Given the description of an element on the screen output the (x, y) to click on. 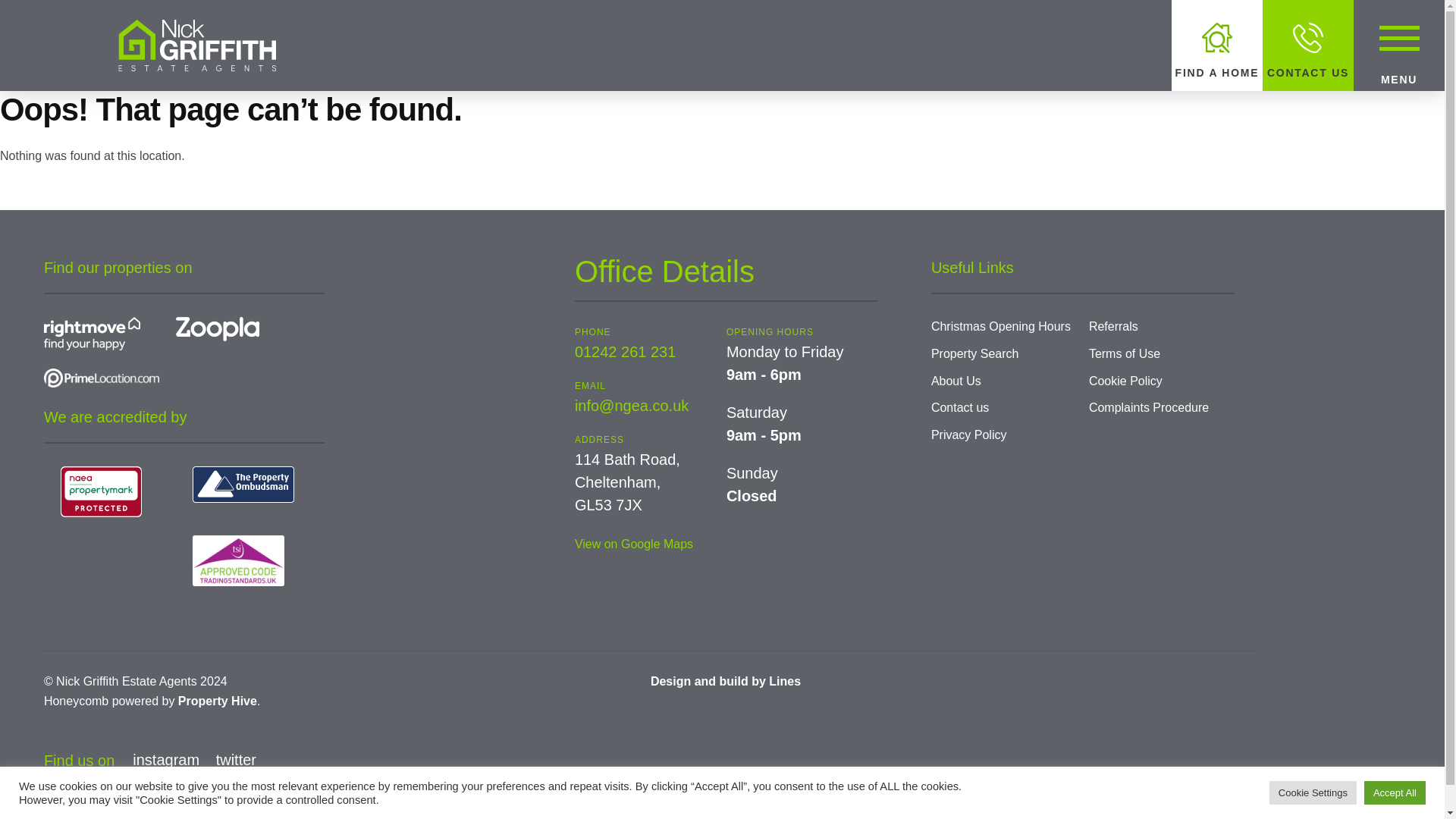
Property Hive (217, 700)
01242 261 231 (625, 351)
About Us (956, 380)
Website design, build and CMS by Lines (725, 680)
Complaints Procedure (1148, 407)
FIND A HOME (1217, 45)
Accept All (1394, 792)
Terms of Use (1124, 353)
View on Google Maps (634, 543)
Christmas Opening Hours (1000, 326)
